Given the description of an element on the screen output the (x, y) to click on. 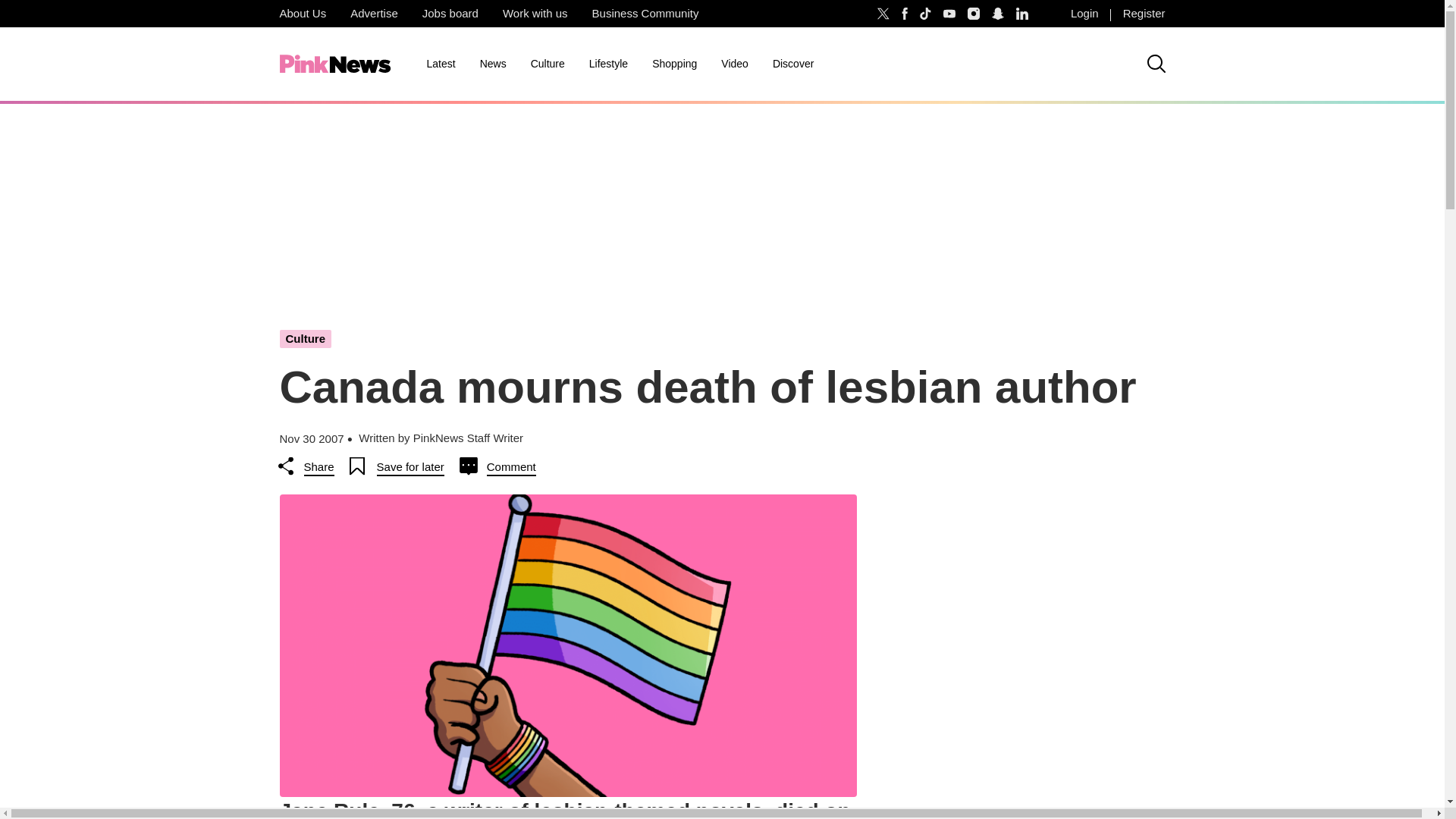
Jobs board (450, 13)
Follow PinkNews on LinkedIn (1021, 13)
Register (1143, 13)
Advertise (373, 13)
Business Community (645, 13)
Latest (440, 63)
Work with us (534, 13)
Login (1084, 13)
News (493, 63)
About Us (301, 13)
Culture (547, 63)
Lifestyle (608, 63)
